Given the description of an element on the screen output the (x, y) to click on. 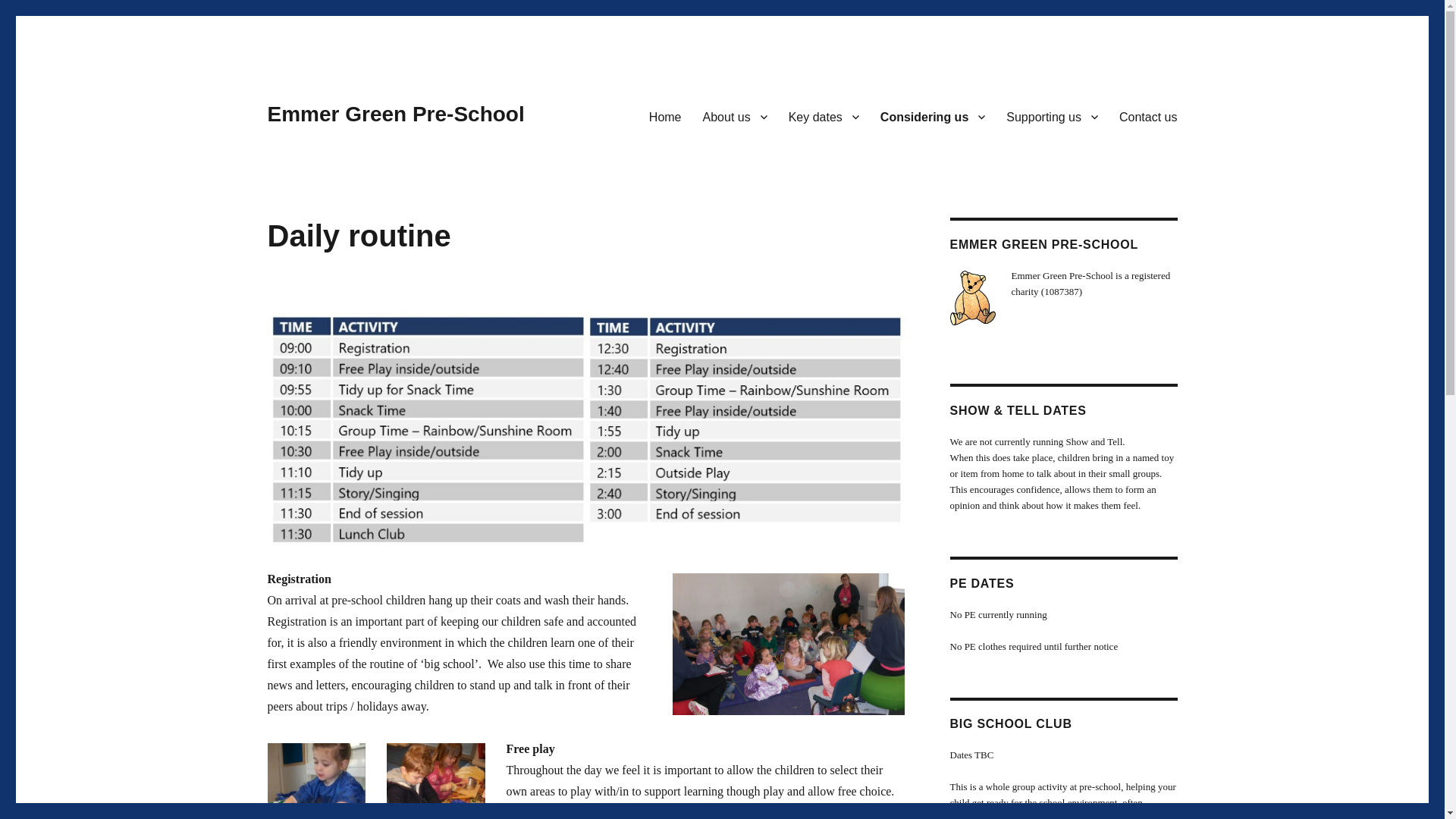
Supporting us (1051, 116)
Emmer Green Pre-School (395, 114)
Home (666, 116)
Contact us (1148, 116)
About us (735, 116)
Considering us (932, 116)
Key dates (823, 116)
